Given the description of an element on the screen output the (x, y) to click on. 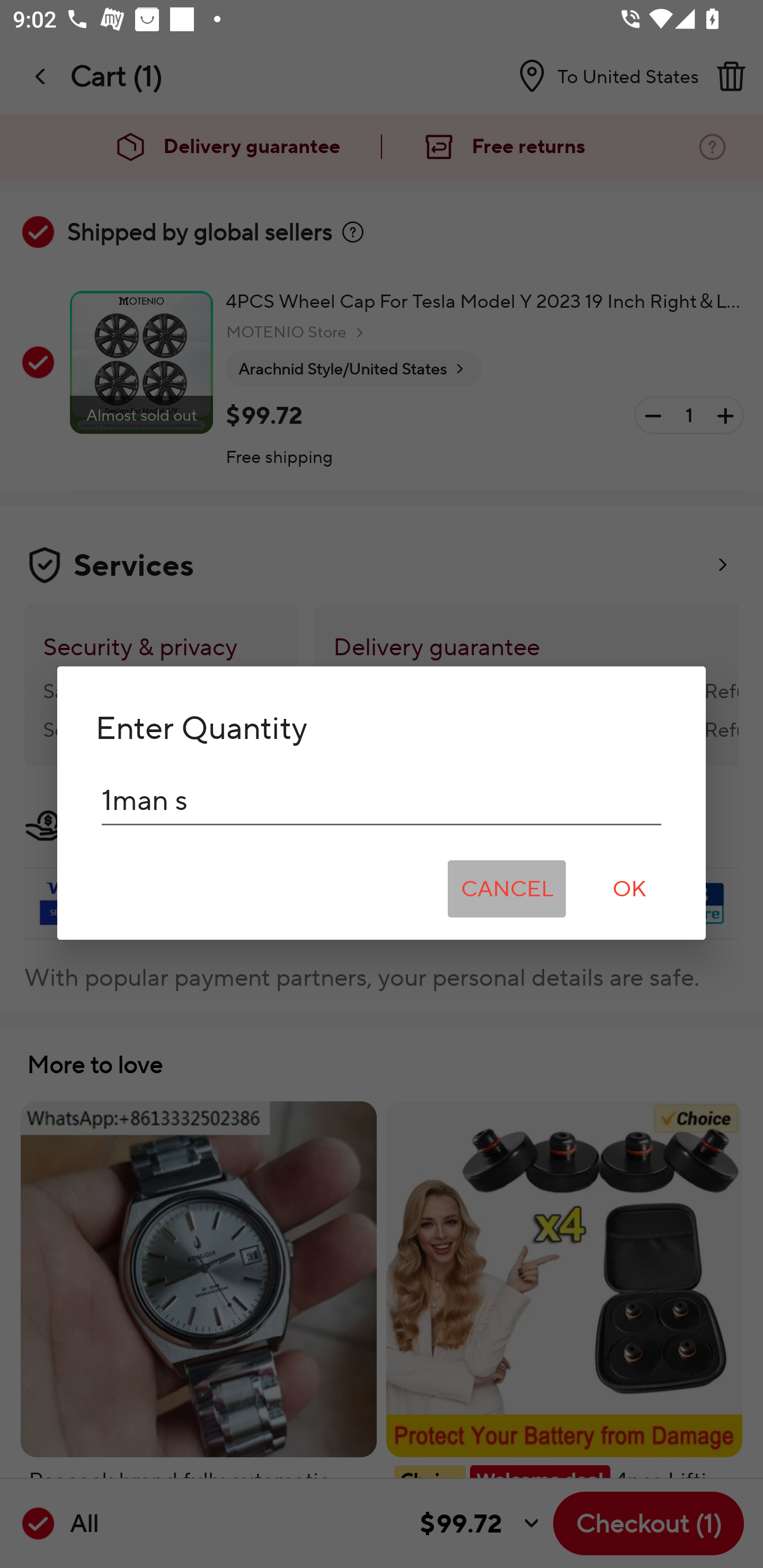
1man s (381, 800)
CANCEL (506, 888)
OK (629, 888)
